Given the description of an element on the screen output the (x, y) to click on. 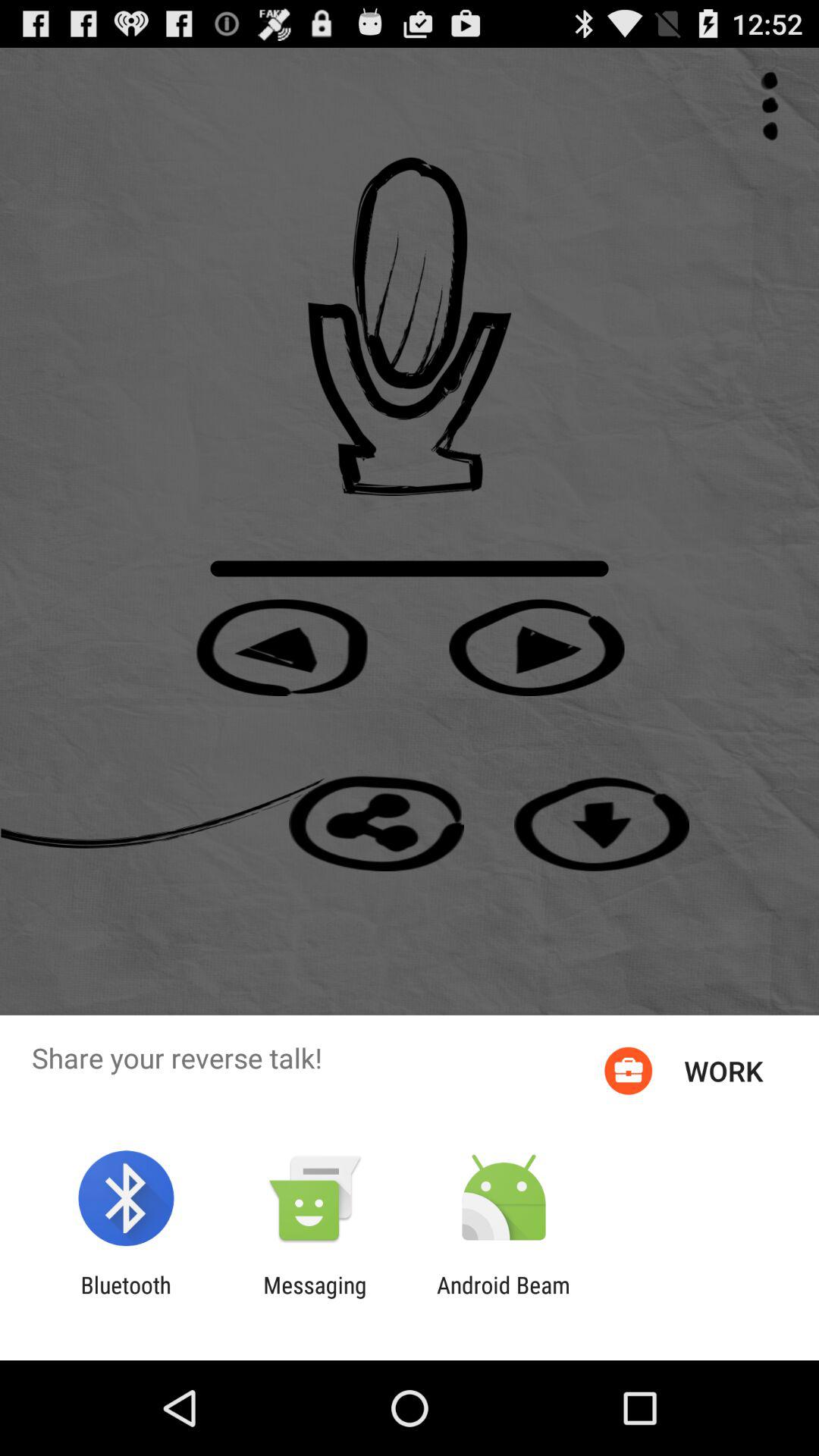
open bluetooth icon (125, 1298)
